Given the description of an element on the screen output the (x, y) to click on. 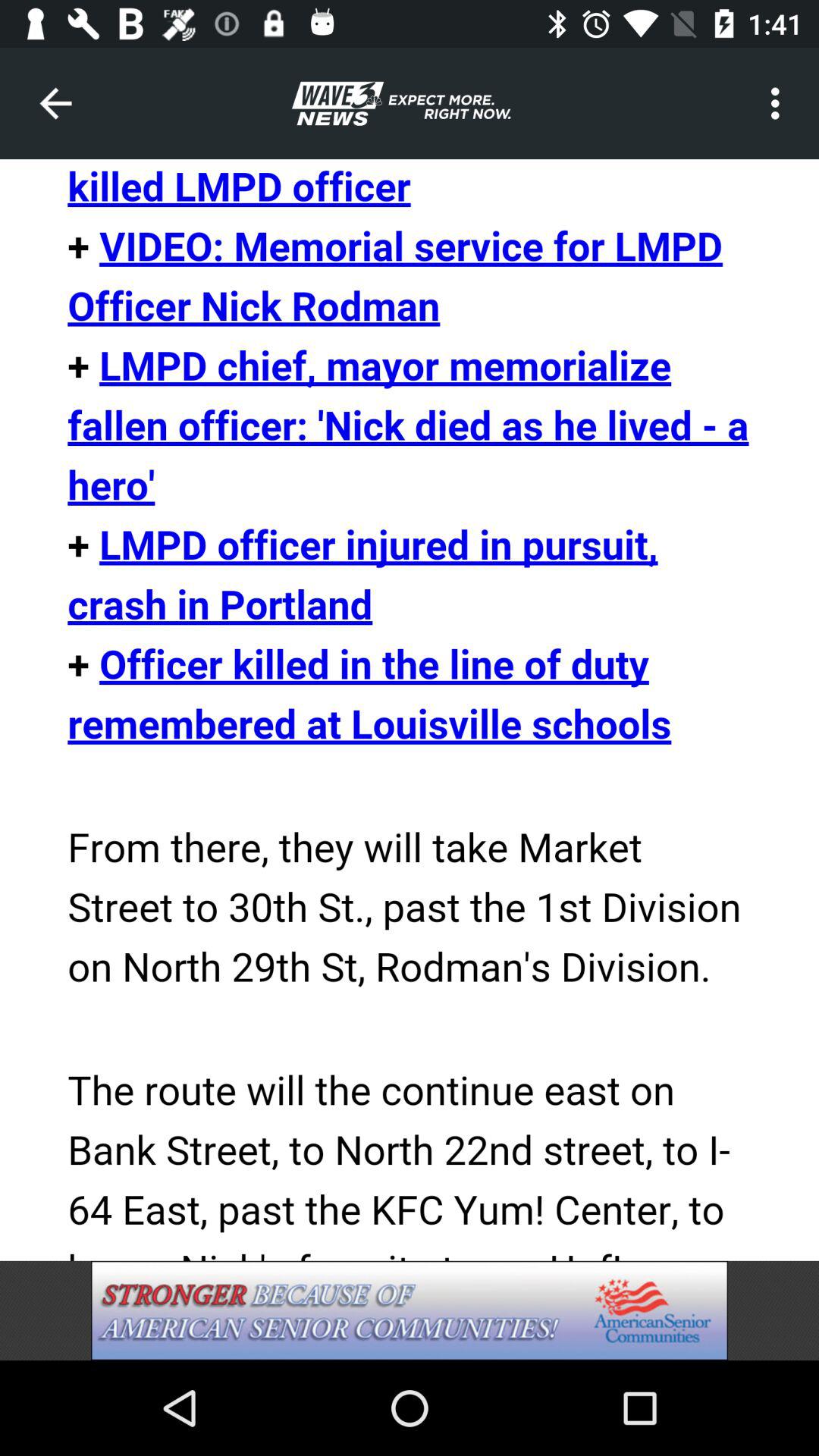
launch advertisement (409, 1310)
